Given the description of an element on the screen output the (x, y) to click on. 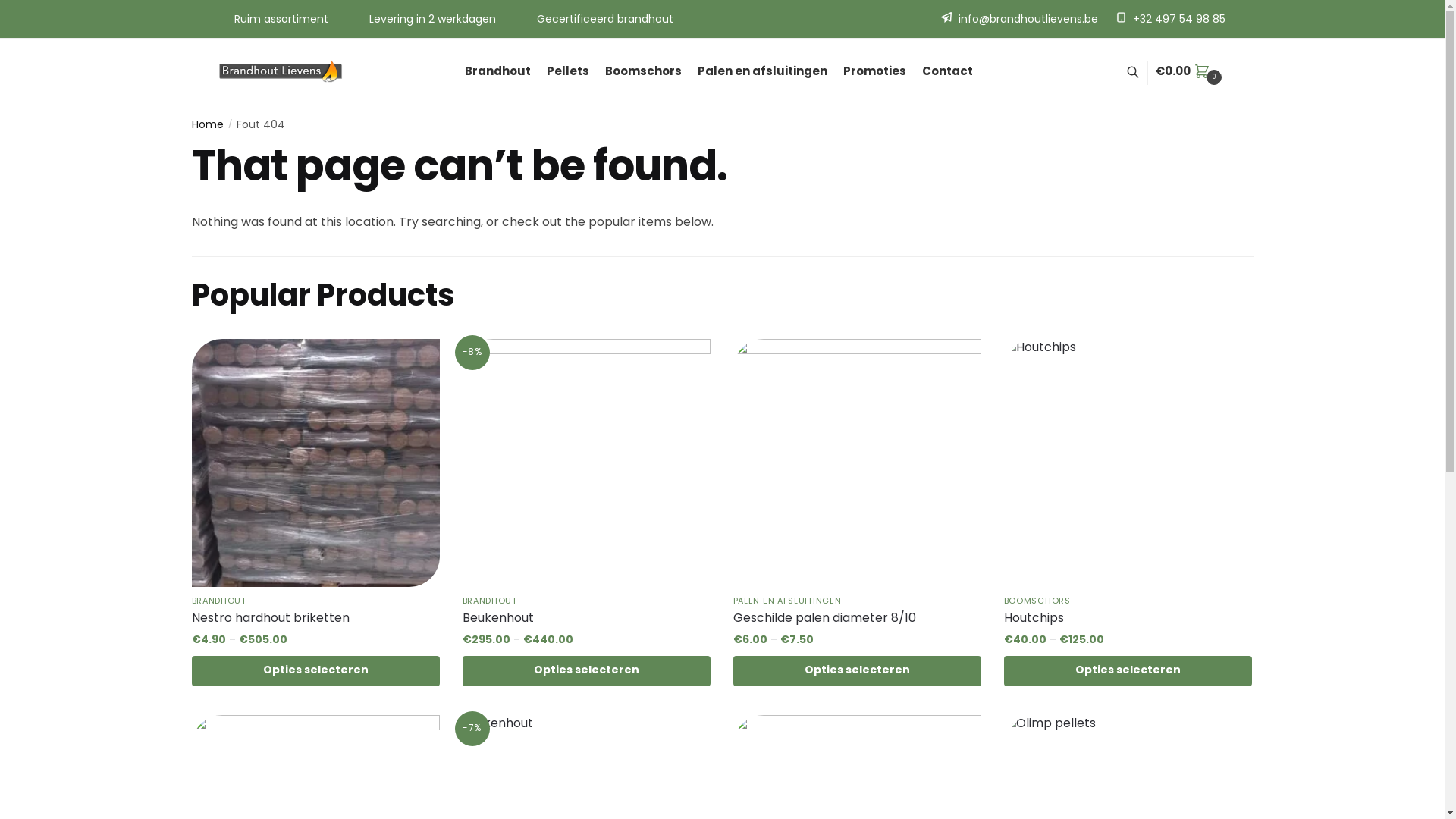
BOOMSCHORS Element type: text (1037, 601)
+32 497 54 98 85 Element type: text (1170, 19)
-8% Element type: text (586, 462)
Opties selecteren Element type: text (315, 670)
Contact Element type: text (947, 72)
Pellets Element type: text (568, 72)
Opties selecteren Element type: text (857, 670)
Beukenhout Element type: text (586, 619)
BRANDHOUT Element type: text (218, 601)
Skip to navigation Element type: text (52, 9)
Boomschors Element type: text (643, 72)
BRANDHOUT Element type: text (489, 601)
Opties selecteren Element type: text (586, 670)
Palen en afsluitingen Element type: text (762, 72)
Opties selecteren Element type: text (1128, 670)
Houtchips Element type: text (1128, 619)
Geschilde palen diameter 8/10 Element type: text (857, 619)
Zoeken Element type: text (448, 400)
Nestro hardhout briketten Element type: text (315, 619)
Promoties Element type: text (875, 72)
Home Element type: text (206, 125)
Skip to content Element type: text (45, 9)
info@brandhoutlievens.be Element type: text (1019, 19)
Brandhout Element type: text (500, 72)
PALEN EN AFSLUITINGEN Element type: text (787, 601)
